Given the description of an element on the screen output the (x, y) to click on. 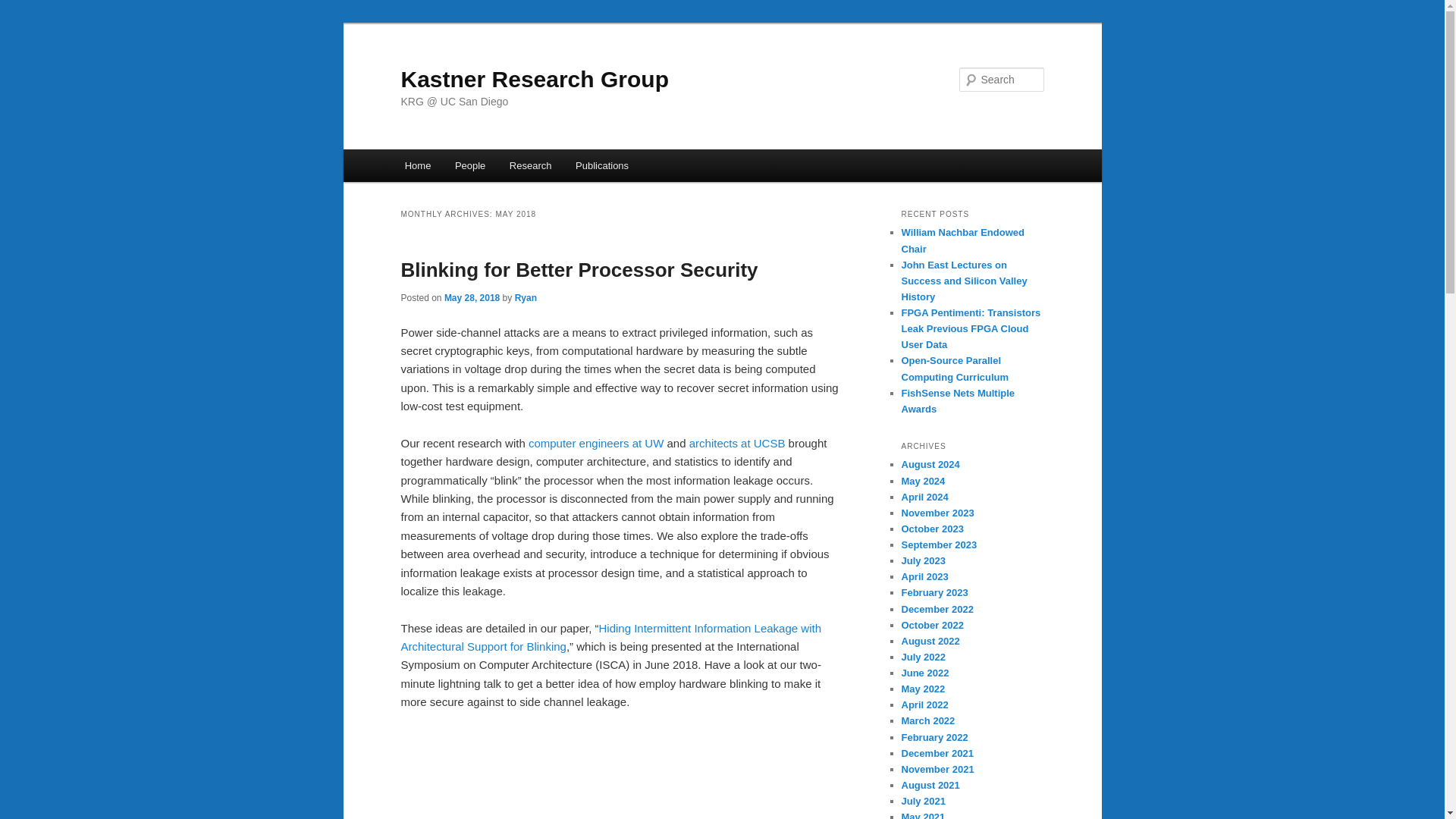
October 2022 (931, 624)
Research (530, 165)
People (469, 165)
May 28, 2018 (471, 297)
Publications (601, 165)
May 2024 (922, 480)
FishSense Nets Multiple Awards (957, 400)
Ryan (526, 297)
July 2023 (922, 560)
April 2023 (924, 576)
